Given the description of an element on the screen output the (x, y) to click on. 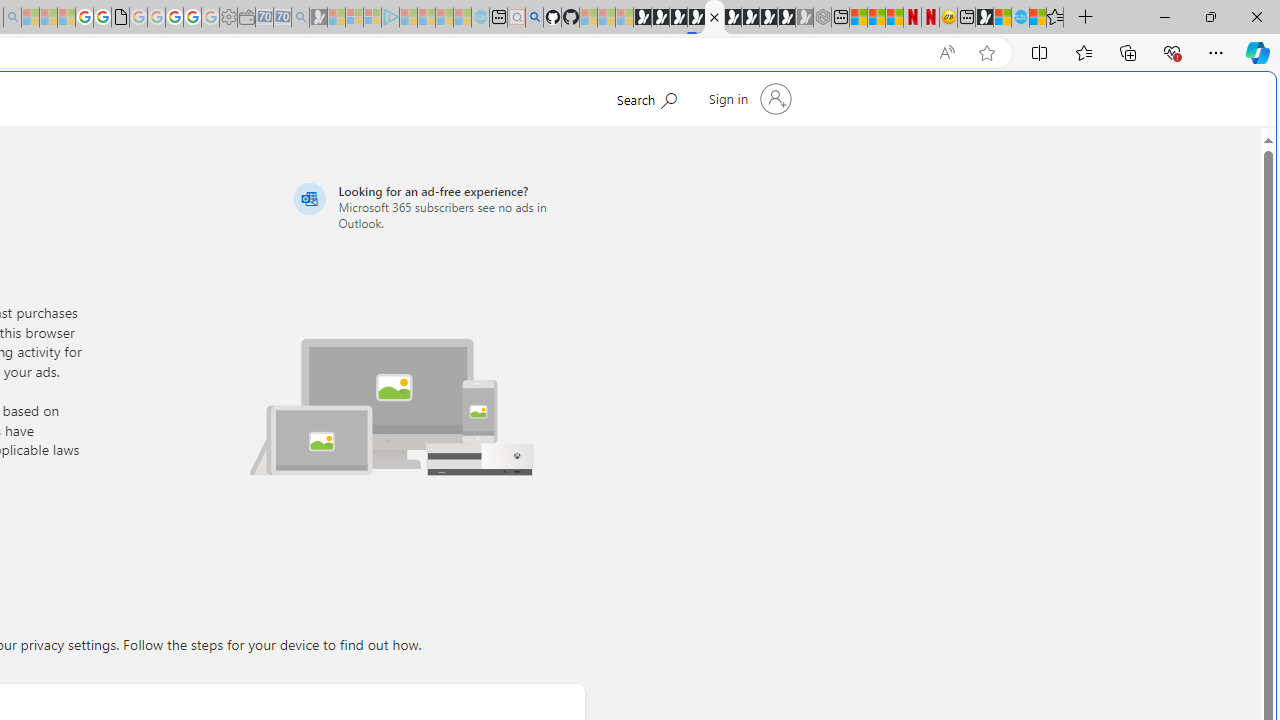
Play Free Online Games | Games from Microsoft Start (642, 17)
Microsoft Start Gaming - Sleeping (317, 17)
Frequently visited (418, 265)
github - Search (534, 17)
World - MSN (1002, 17)
